Given the description of an element on the screen output the (x, y) to click on. 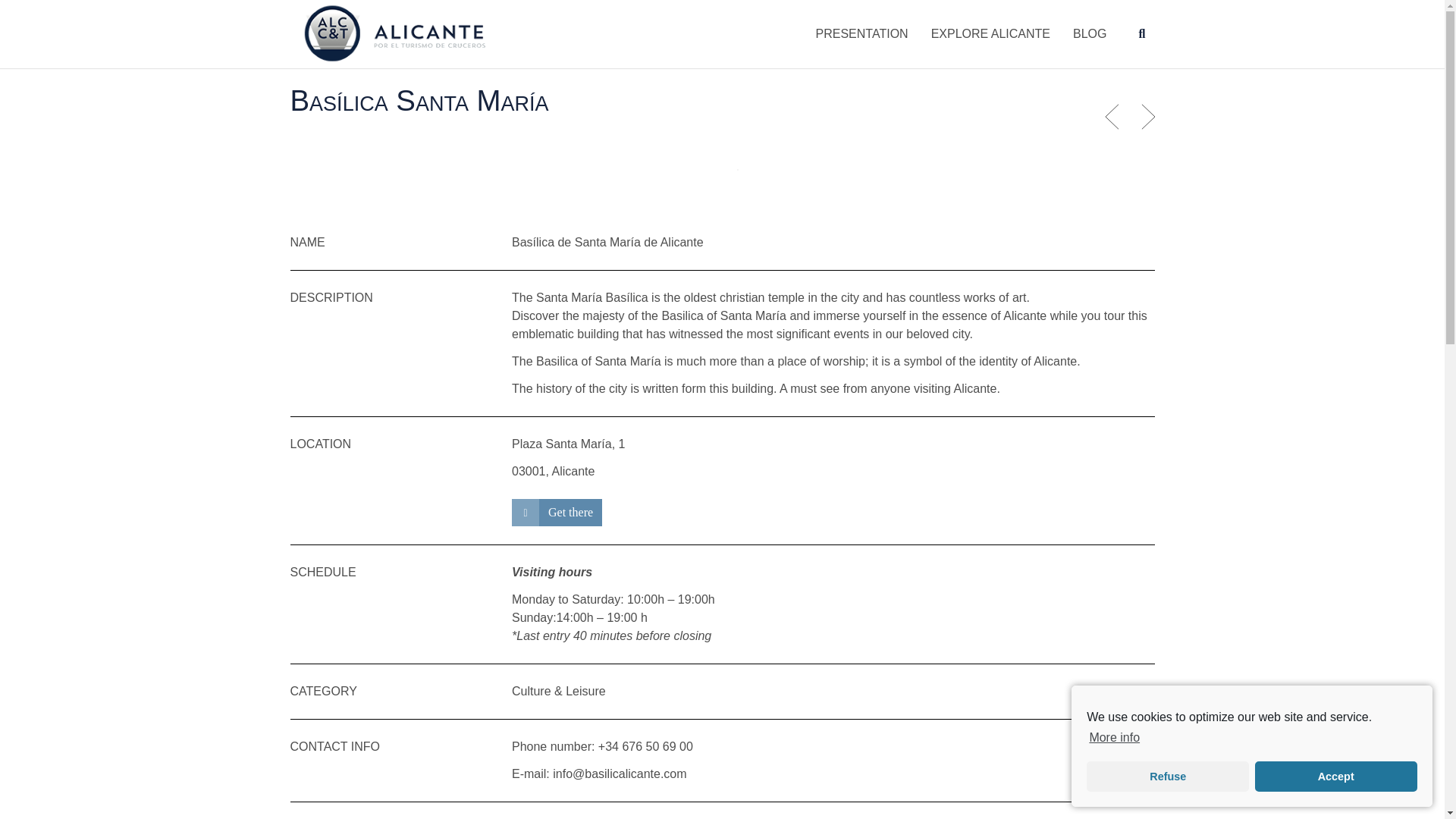
Get there (557, 512)
PRESENTATION (862, 33)
Accept (1335, 776)
More info (1113, 737)
EXPLORE ALICANTE (990, 33)
Refuse (1167, 776)
